Given the description of an element on the screen output the (x, y) to click on. 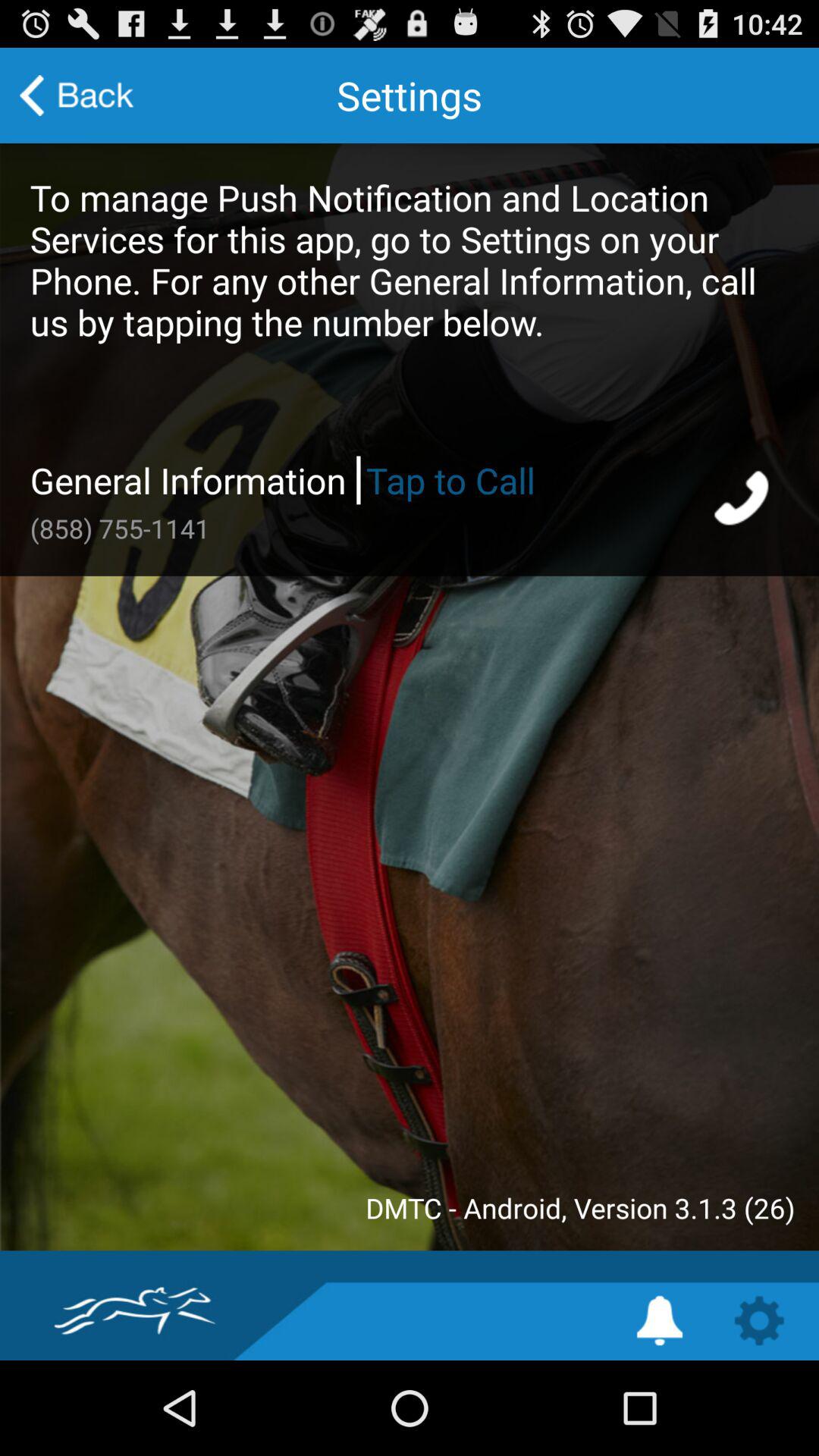
toggle notifications (659, 1320)
